Given the description of an element on the screen output the (x, y) to click on. 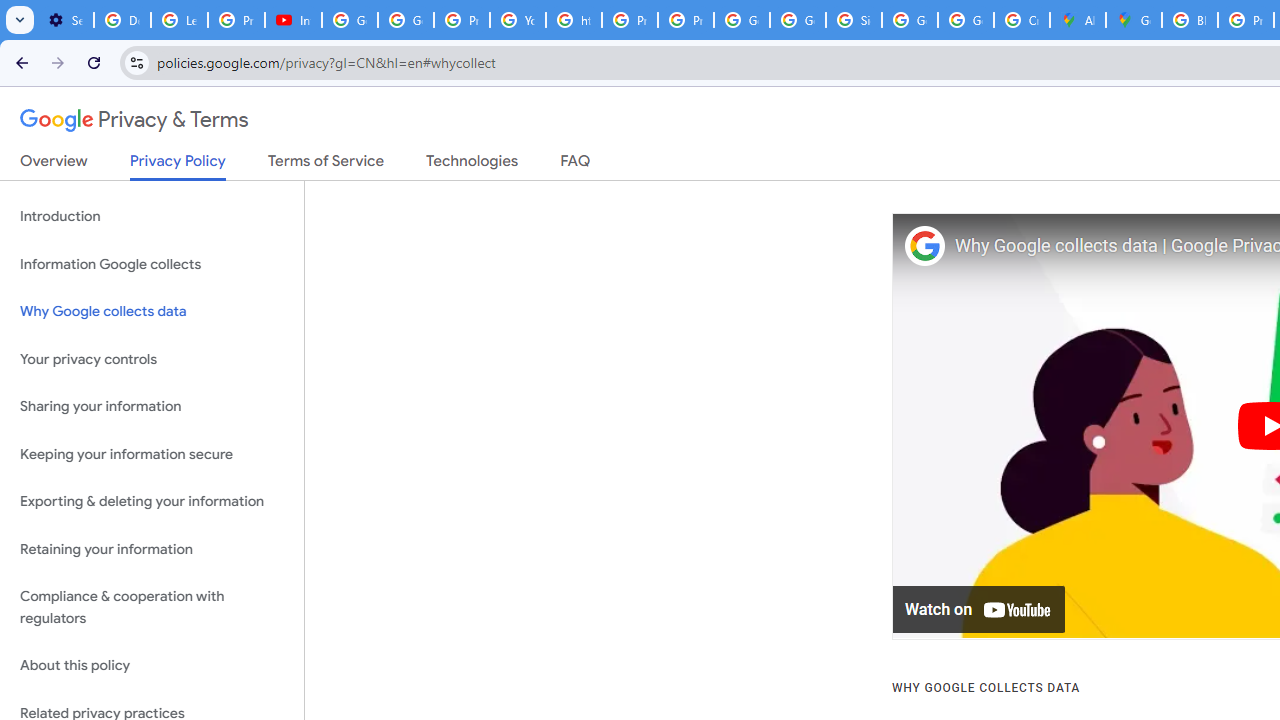
Create your Google Account (1021, 20)
Settings - Customize profile (65, 20)
Introduction | Google Privacy Policy - YouTube (293, 20)
Why Google collects data (152, 312)
Photo image of Google (924, 246)
Retaining your information (152, 548)
